Given the description of an element on the screen output the (x, y) to click on. 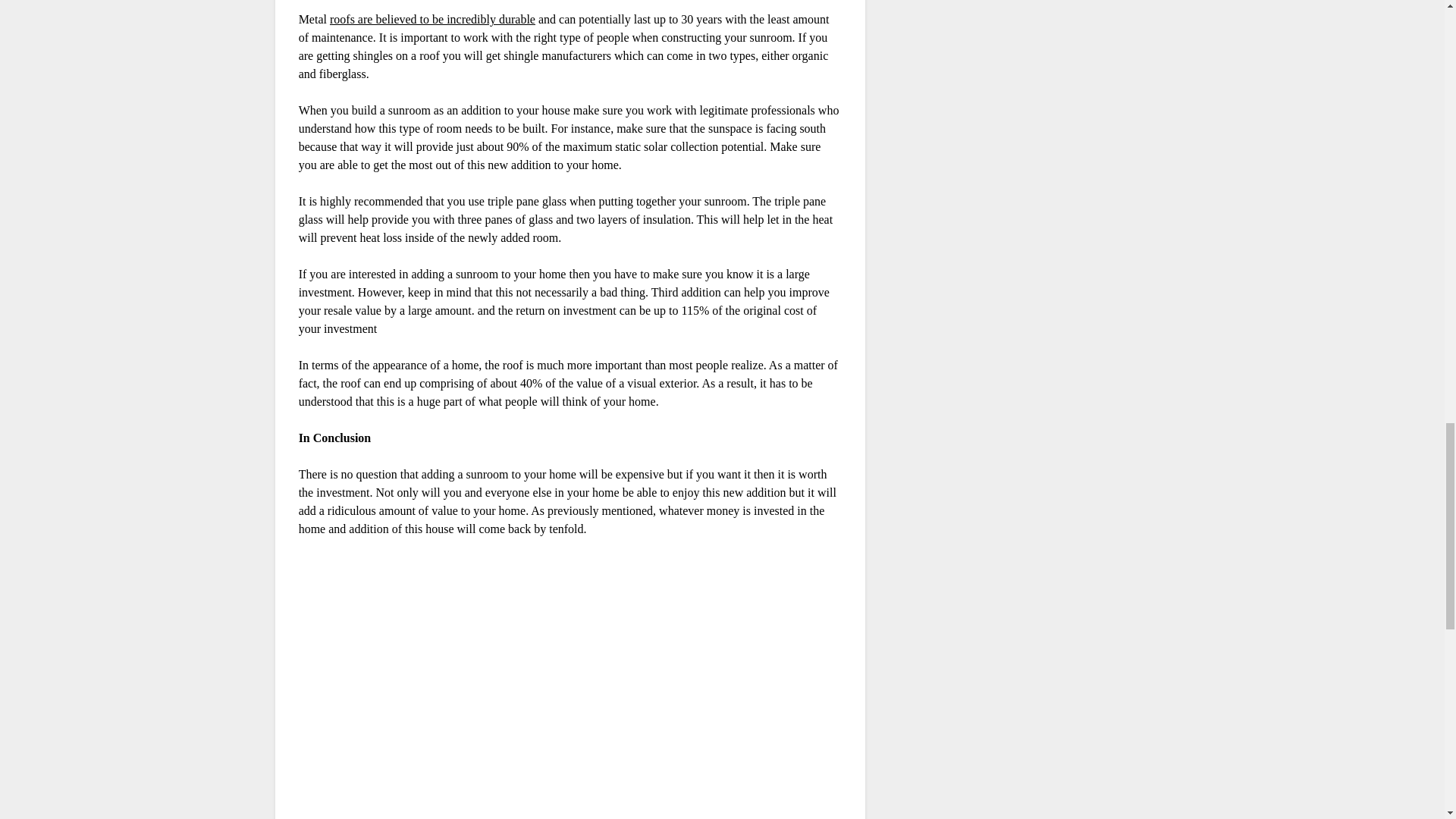
roofs are believed to be incredibly durable (432, 19)
20 Best Sunroom Ideas (541, 687)
Roof (432, 19)
